Given the description of an element on the screen output the (x, y) to click on. 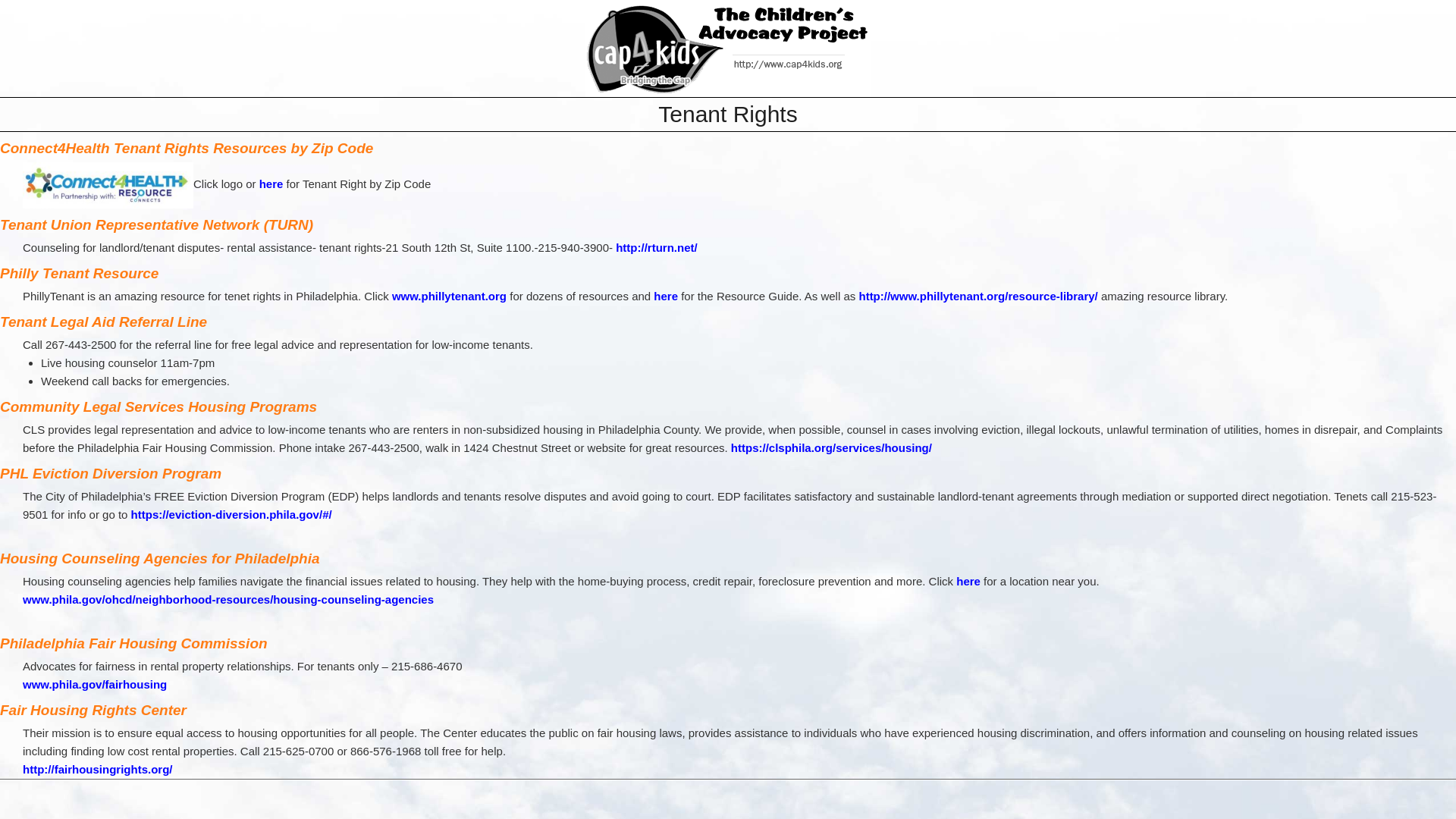
Philly Tenant Resource (79, 273)
Tenant Legal Aid Referral Line (103, 321)
Community Legal Services Housing Programs (158, 406)
Connect4Health Tenant Rights Resources by Zip Code (186, 148)
PHL Eviction Diversion Program (110, 473)
Housing Counseling Agencies for Philadelphia (160, 558)
